Given the description of an element on the screen output the (x, y) to click on. 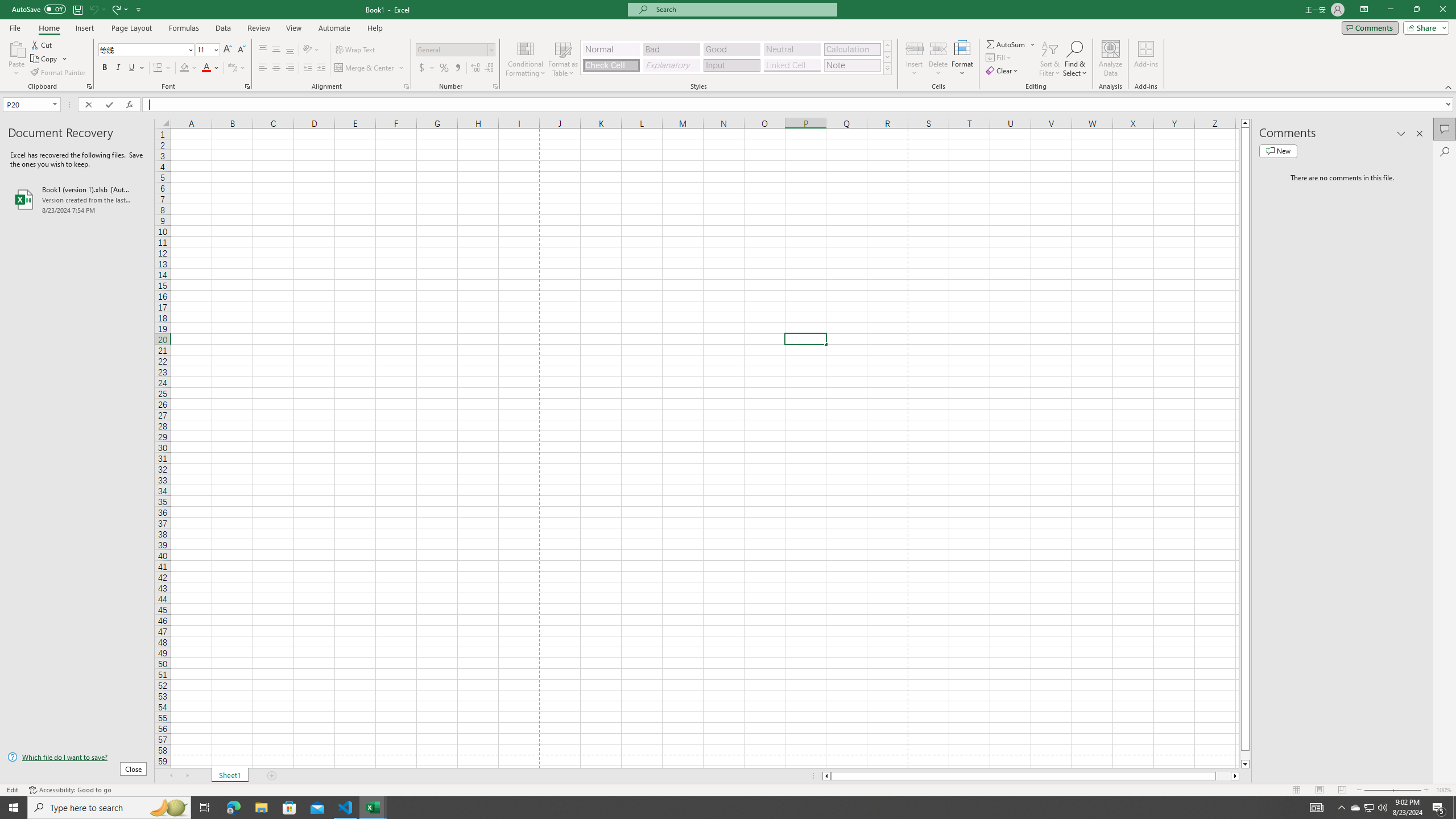
Comma Style (457, 67)
Delete (938, 58)
Increase Decimal (474, 67)
Fill Color (188, 67)
Analyze Data (1110, 58)
Bottom Border (157, 67)
Book1 (version 1).xlsb  [AutoRecovered] (77, 199)
Merge & Center (365, 67)
